Given the description of an element on the screen output the (x, y) to click on. 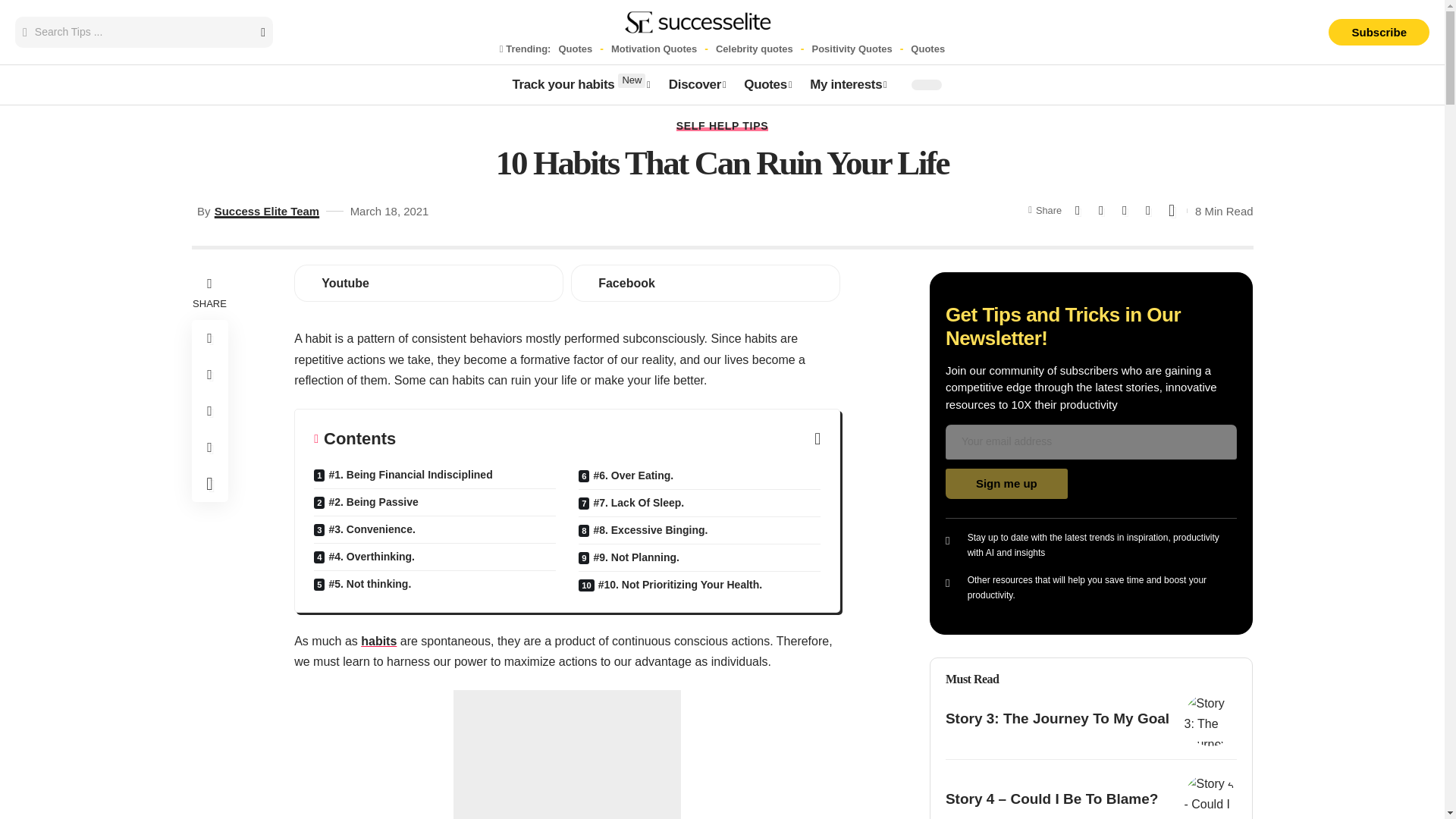
Celebrity quotes (754, 48)
Quotes (767, 84)
My interests (847, 84)
Quotes (574, 48)
Motivation Quotes (654, 48)
Positivity Quotes (850, 48)
Discover (697, 84)
Story 3: The Journey To My Goal (1209, 719)
Quotes (927, 48)
Subscribe (1378, 31)
Sign me up (580, 84)
Search (1005, 483)
